Given the description of an element on the screen output the (x, y) to click on. 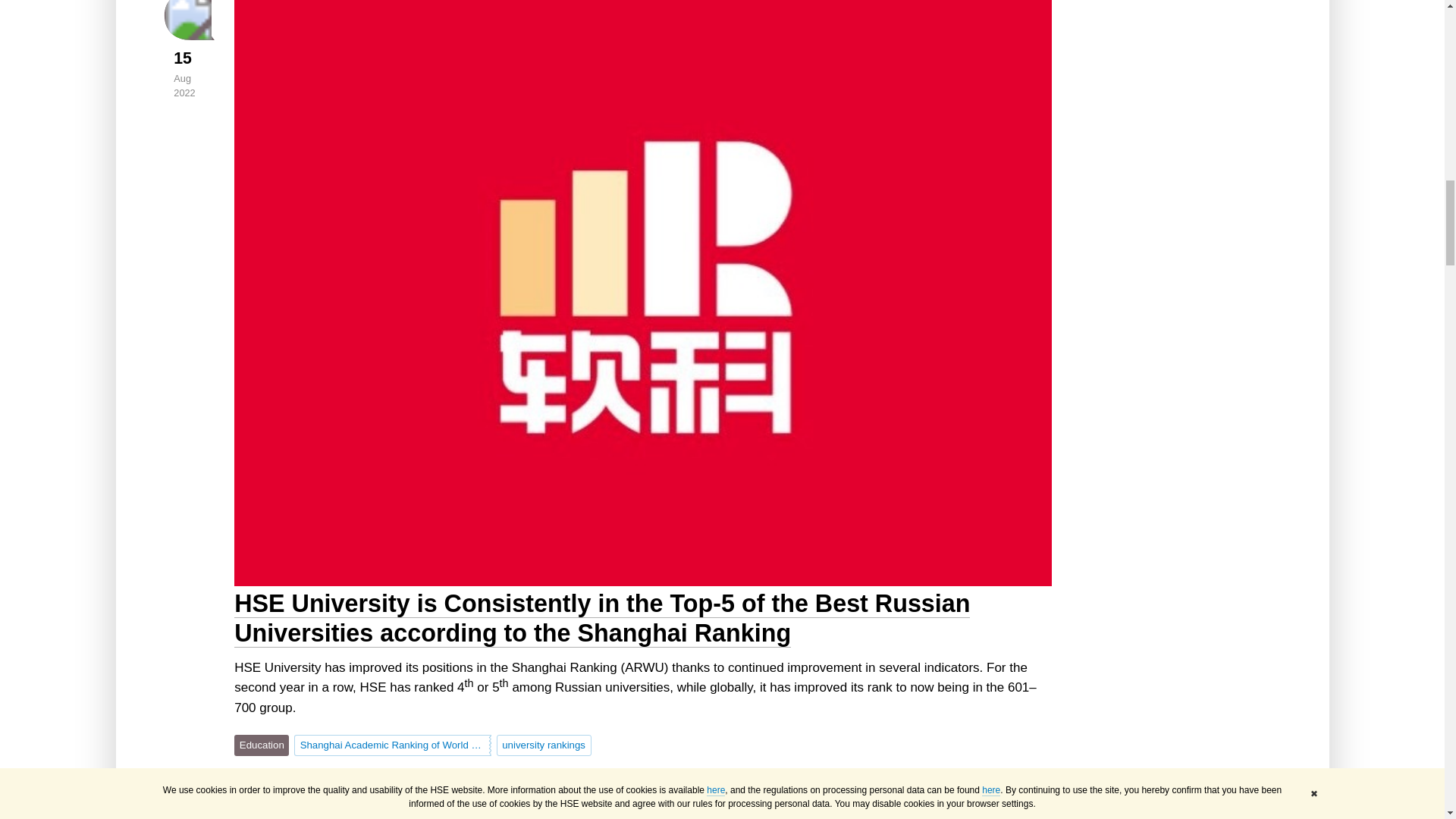
 university rankings (543, 744)
